Given the description of an element on the screen output the (x, y) to click on. 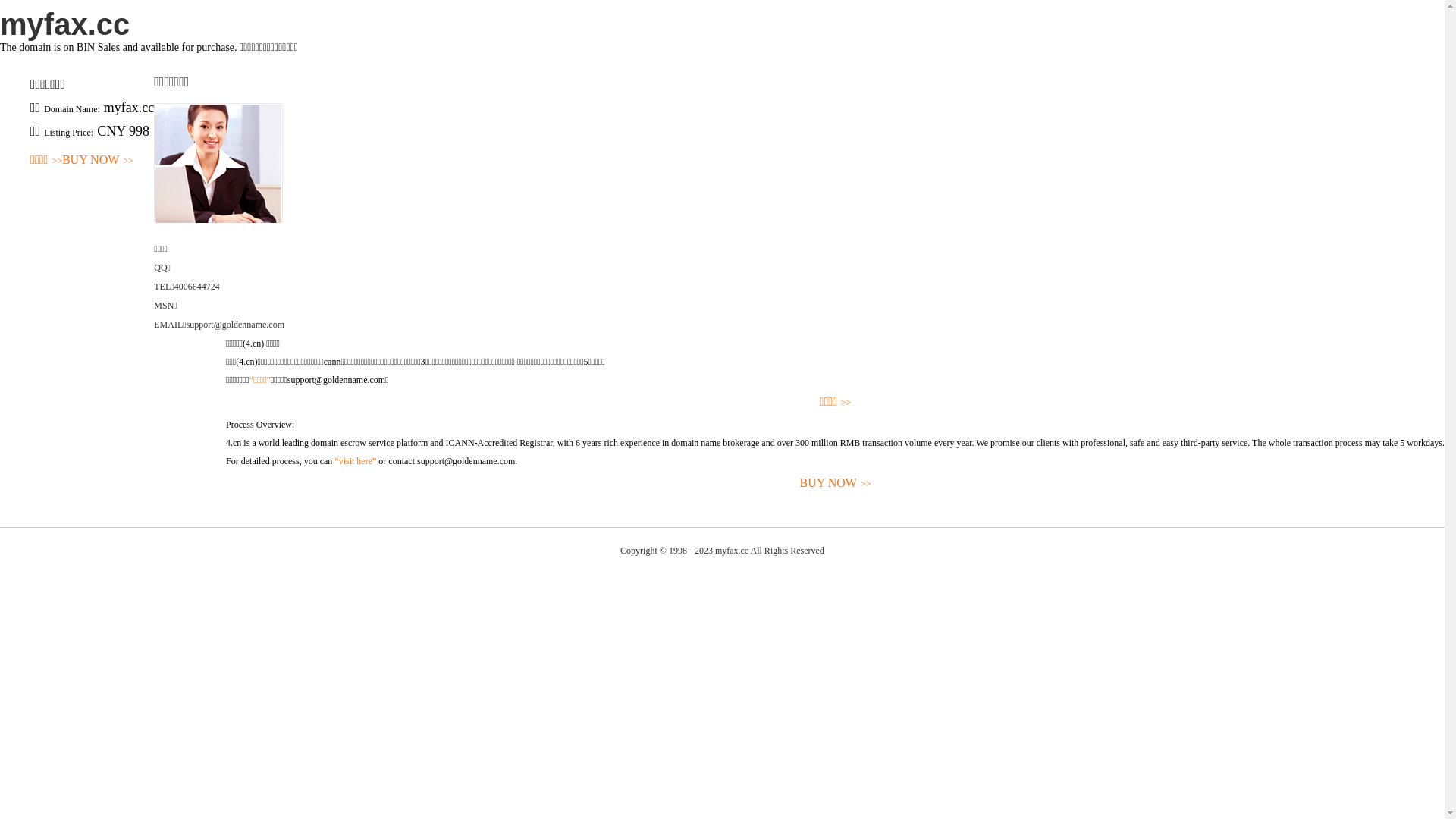
BUY NOW>> Element type: text (97, 160)
BUY NOW>> Element type: text (834, 483)
